Given the description of an element on the screen output the (x, y) to click on. 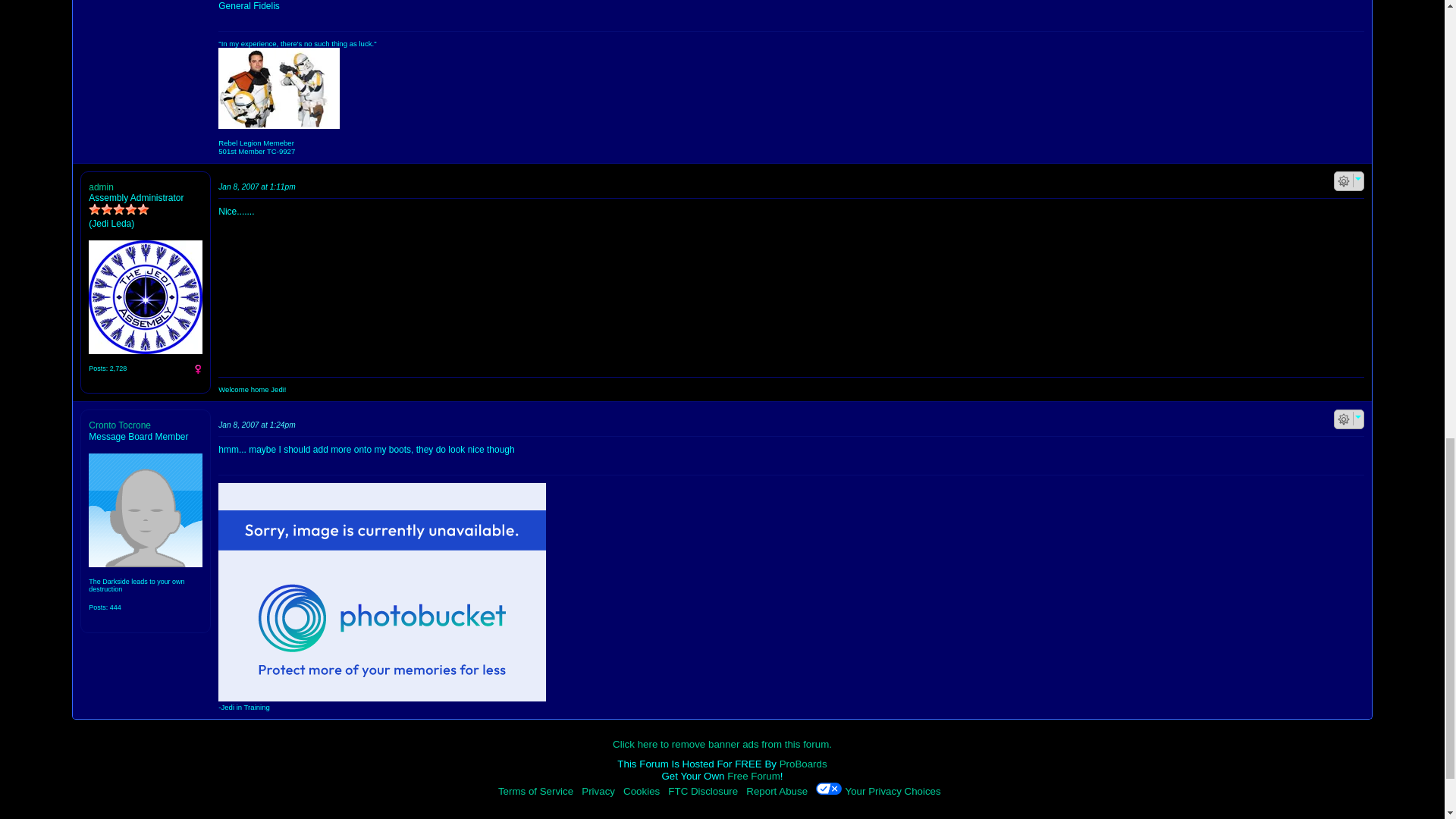
Cronto Tocrone (145, 510)
Female (197, 368)
admin (145, 296)
Post Options (1343, 181)
Post Options (1343, 419)
